Given the description of an element on the screen output the (x, y) to click on. 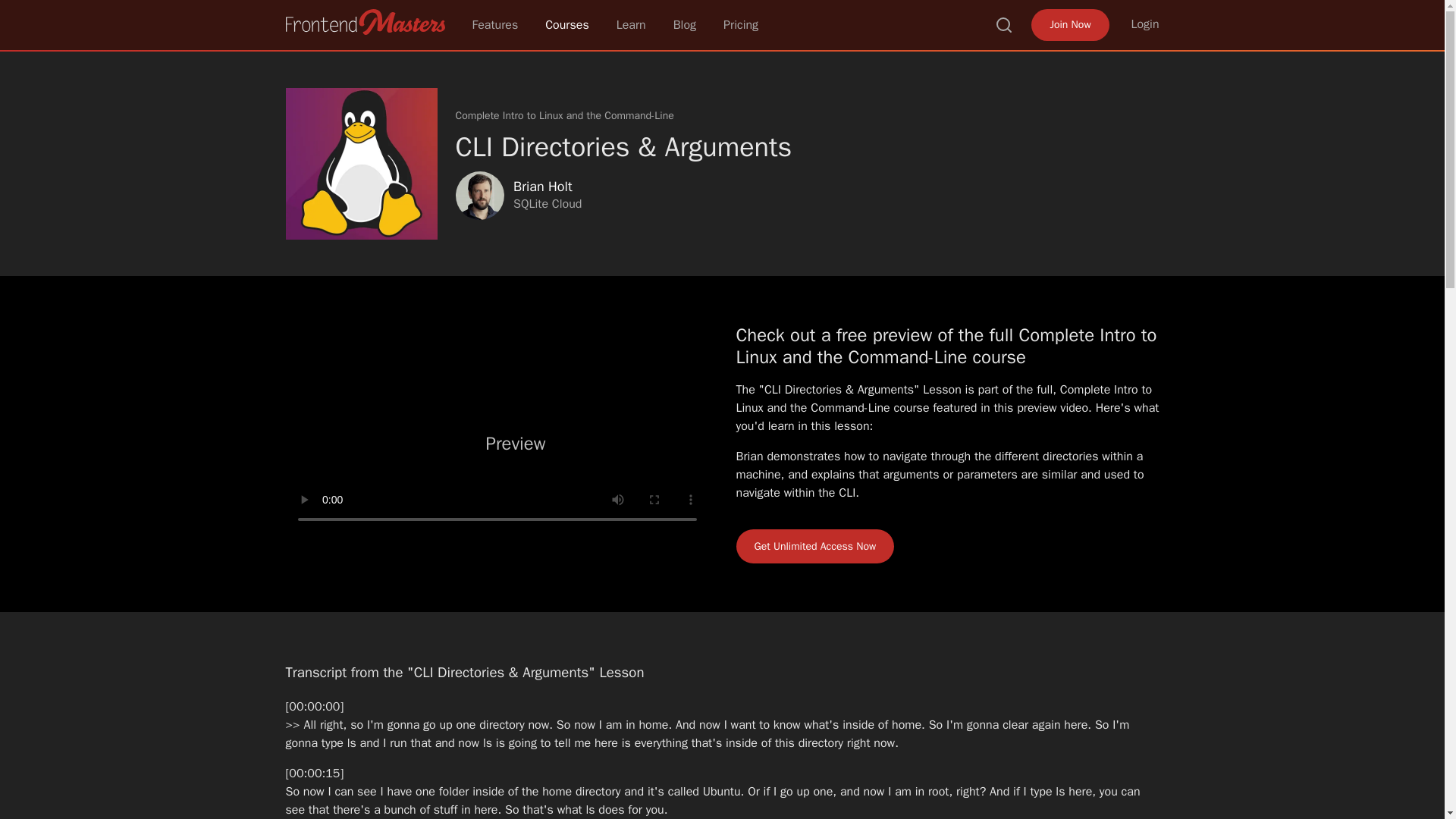
Join Now (1069, 24)
Search (1003, 24)
Complete Intro to Linux and the Command-Line (563, 115)
Pricing (740, 24)
Brian Holt (478, 195)
Brian Holt (542, 186)
Blog (683, 24)
Courses (566, 24)
Learn (630, 24)
Get Unlimited Access Now (814, 546)
FrontendMasters (364, 22)
Features (494, 24)
Login (1144, 24)
